Given the description of an element on the screen output the (x, y) to click on. 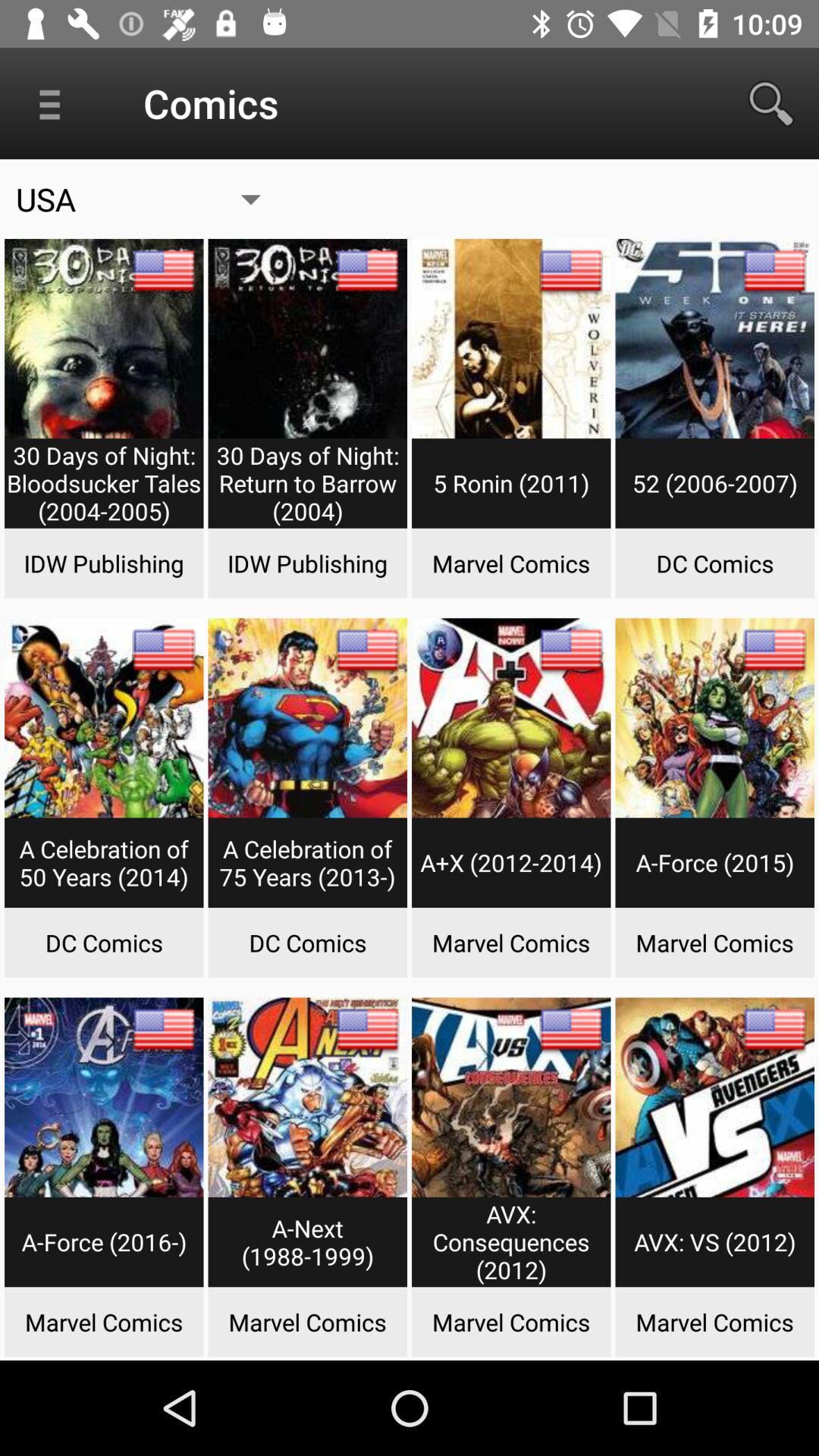
select the fourth image in the second row (714, 768)
click the flag on the third book in the first row (570, 270)
select the icon which is at top right of the seventh image (570, 649)
click on the icon which is at top right of the fourth image (774, 270)
select the flag on the second book in the last row (367, 1029)
click on the country of second book in the first row (367, 270)
